Given the description of an element on the screen output the (x, y) to click on. 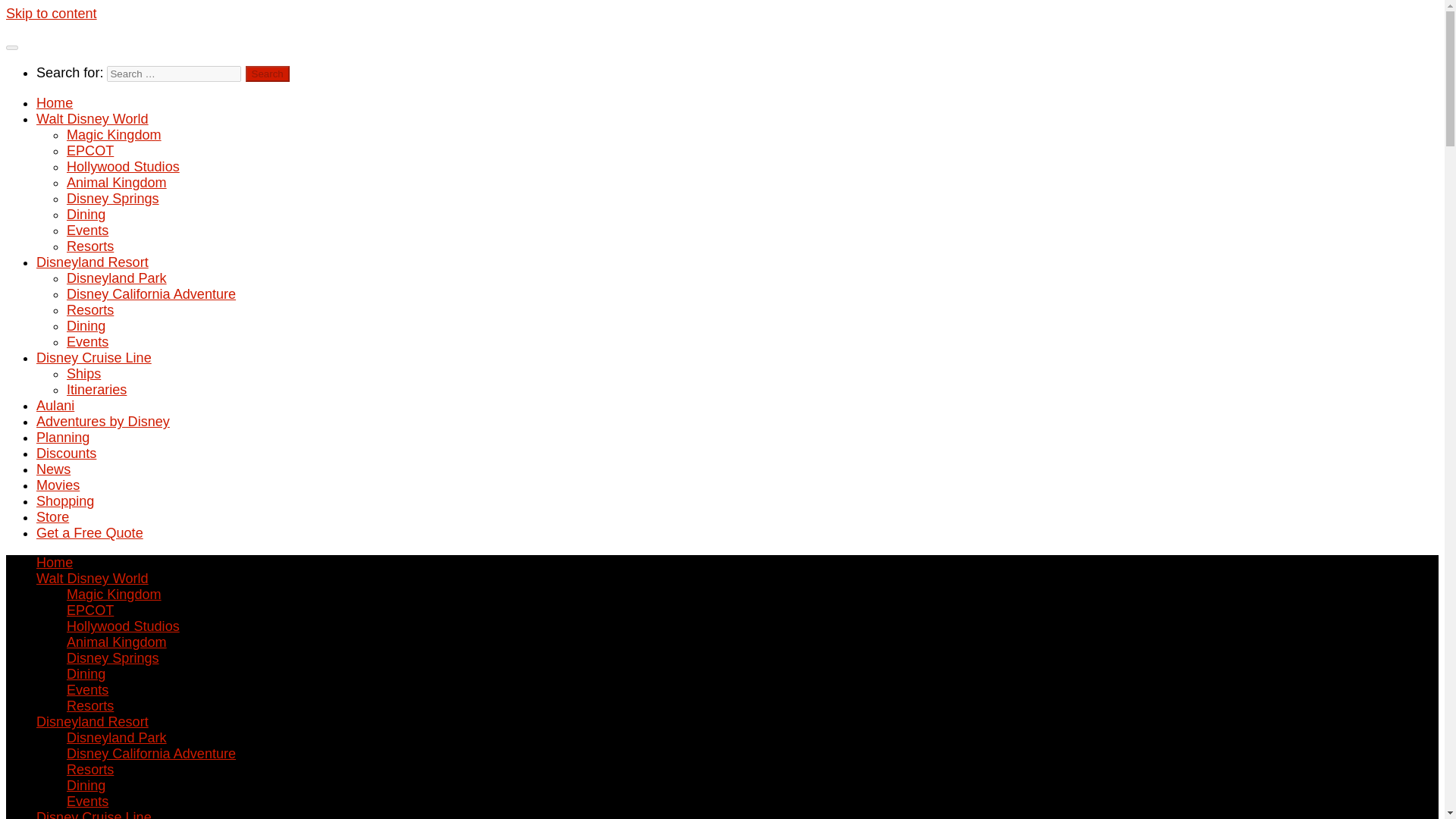
Animal Kingdom (116, 182)
Disneyland Park (116, 278)
Shopping (65, 500)
Magic Kingdom (113, 594)
Dining (85, 214)
Movies (58, 485)
Dining (85, 325)
Events (86, 341)
Disneyland Resort (92, 262)
Store (52, 516)
Itineraries (96, 389)
Menu (11, 47)
Disney California Adventure (150, 294)
EPCOT (89, 610)
Resorts (89, 246)
